Given the description of an element on the screen output the (x, y) to click on. 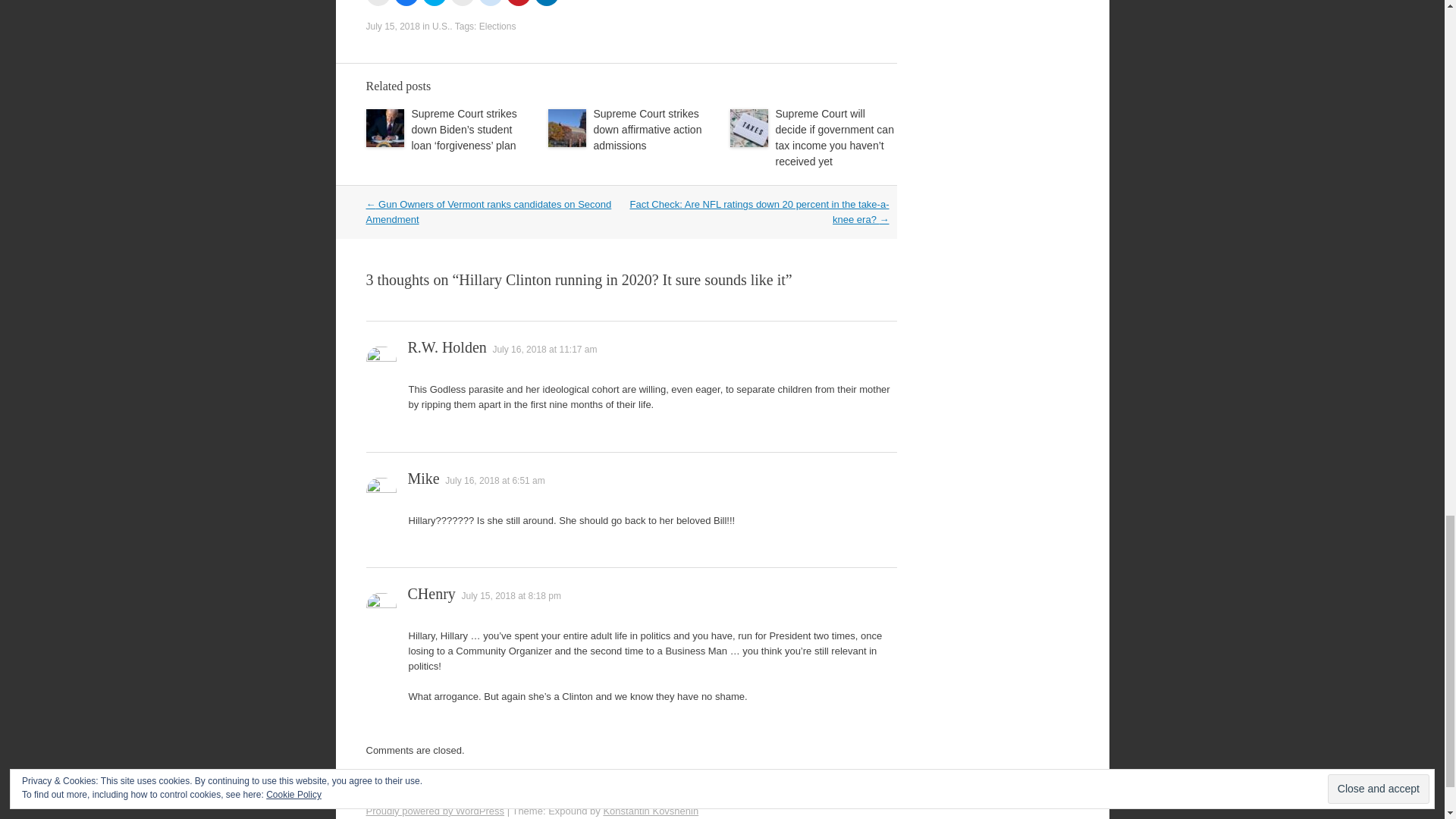
Click to share on Twitter (433, 2)
Click to share on Facebook (406, 2)
Click to share on Reddit (489, 2)
Click to email this to a friend (461, 2)
Click to print (377, 2)
Click to share on LinkedIn (545, 2)
Click to share on Pinterest (518, 2)
